Given the description of an element on the screen output the (x, y) to click on. 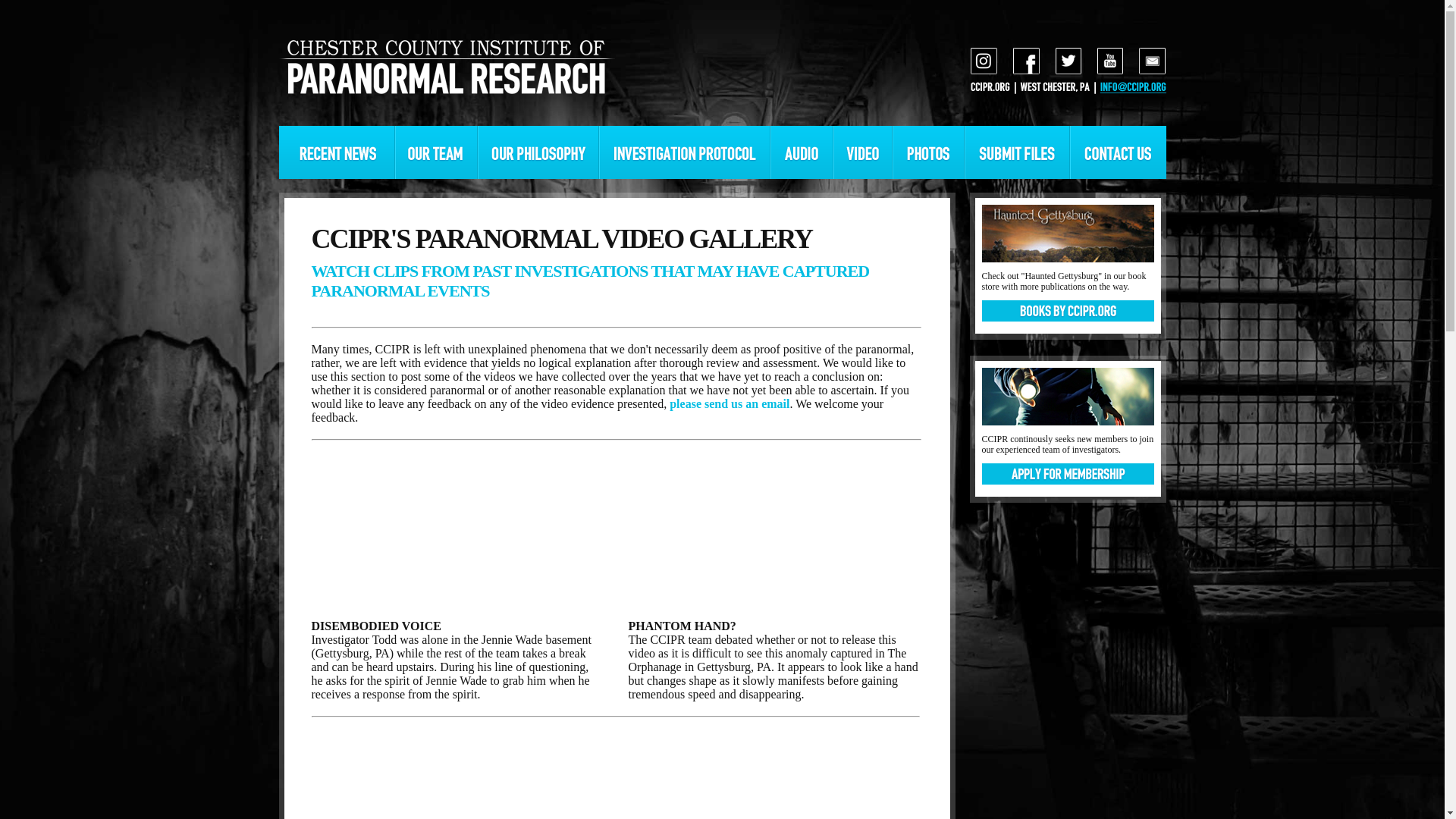
please send us an email (729, 403)
